Given the description of an element on the screen output the (x, y) to click on. 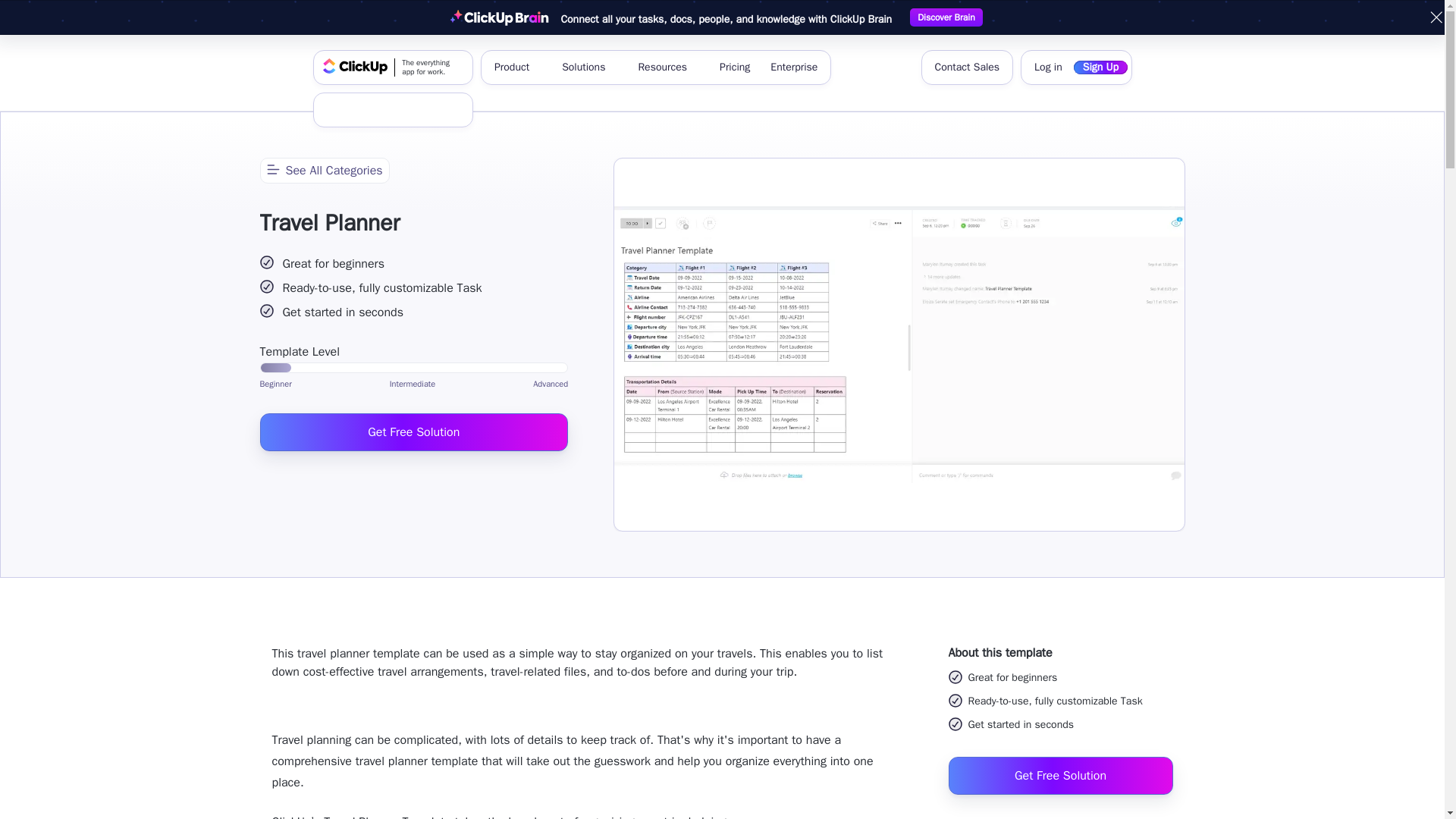
Sign Up (375, 109)
Enterprise (794, 67)
Sign Up (1099, 67)
See All Categories (323, 170)
Discover Brain (945, 17)
Pricing (734, 67)
Resources (667, 67)
Solutions (589, 67)
Open mobile Menu (429, 109)
Close banner (393, 67)
Product (1435, 17)
Contact Sales (517, 67)
Log in (966, 67)
